Given the description of an element on the screen output the (x, y) to click on. 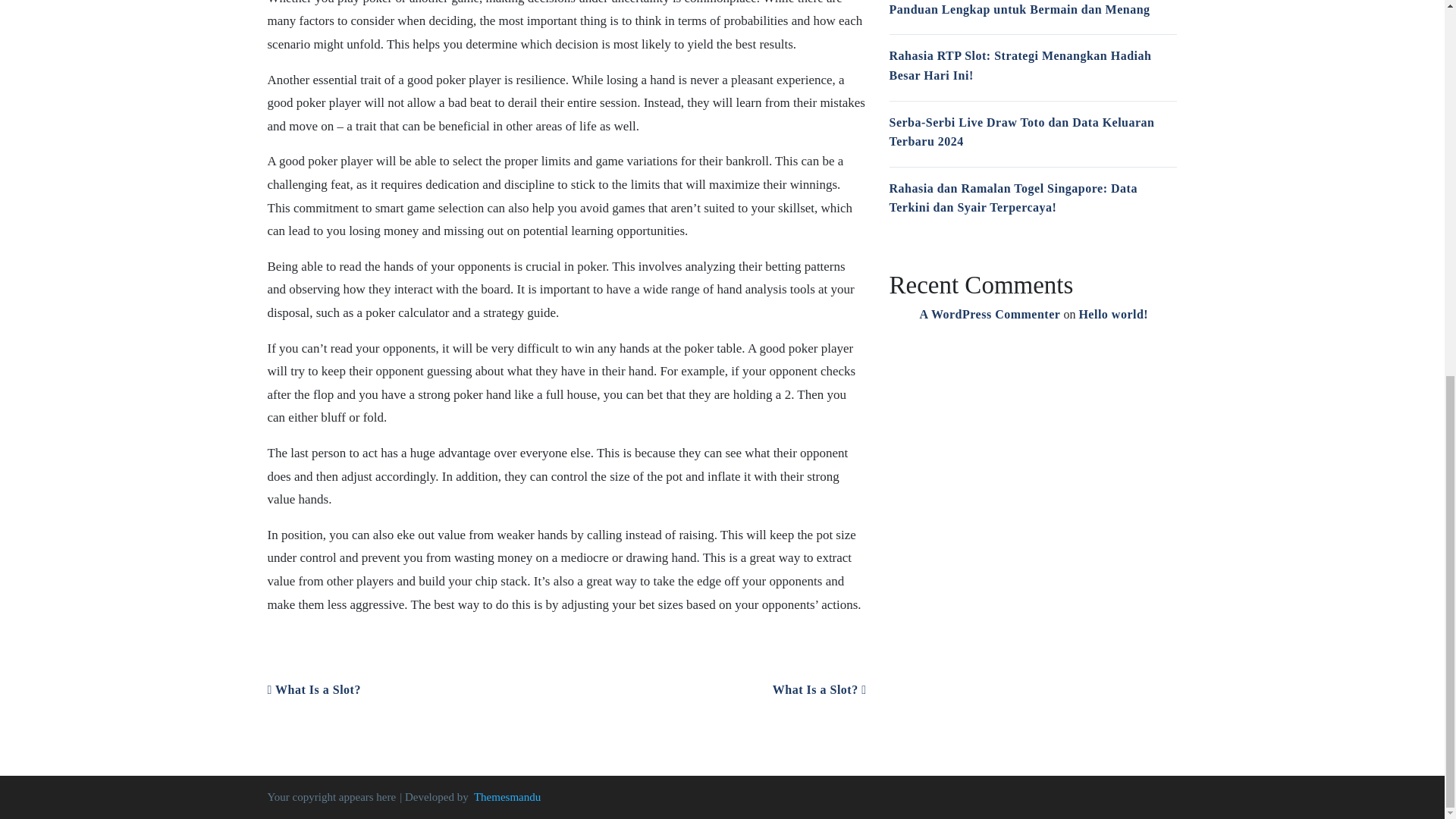
Themesmandu (507, 797)
Rahasia RTP Slot: Strategi Menangkan Hadiah Besar Hari Ini! (1019, 65)
What Is a Slot? (312, 689)
Serba-Serbi Live Draw Toto dan Data Keluaran Terbaru 2024 (1021, 132)
Hello world! (1113, 314)
What Is a Slot? (819, 689)
A WordPress Commenter (988, 314)
